Given the description of an element on the screen output the (x, y) to click on. 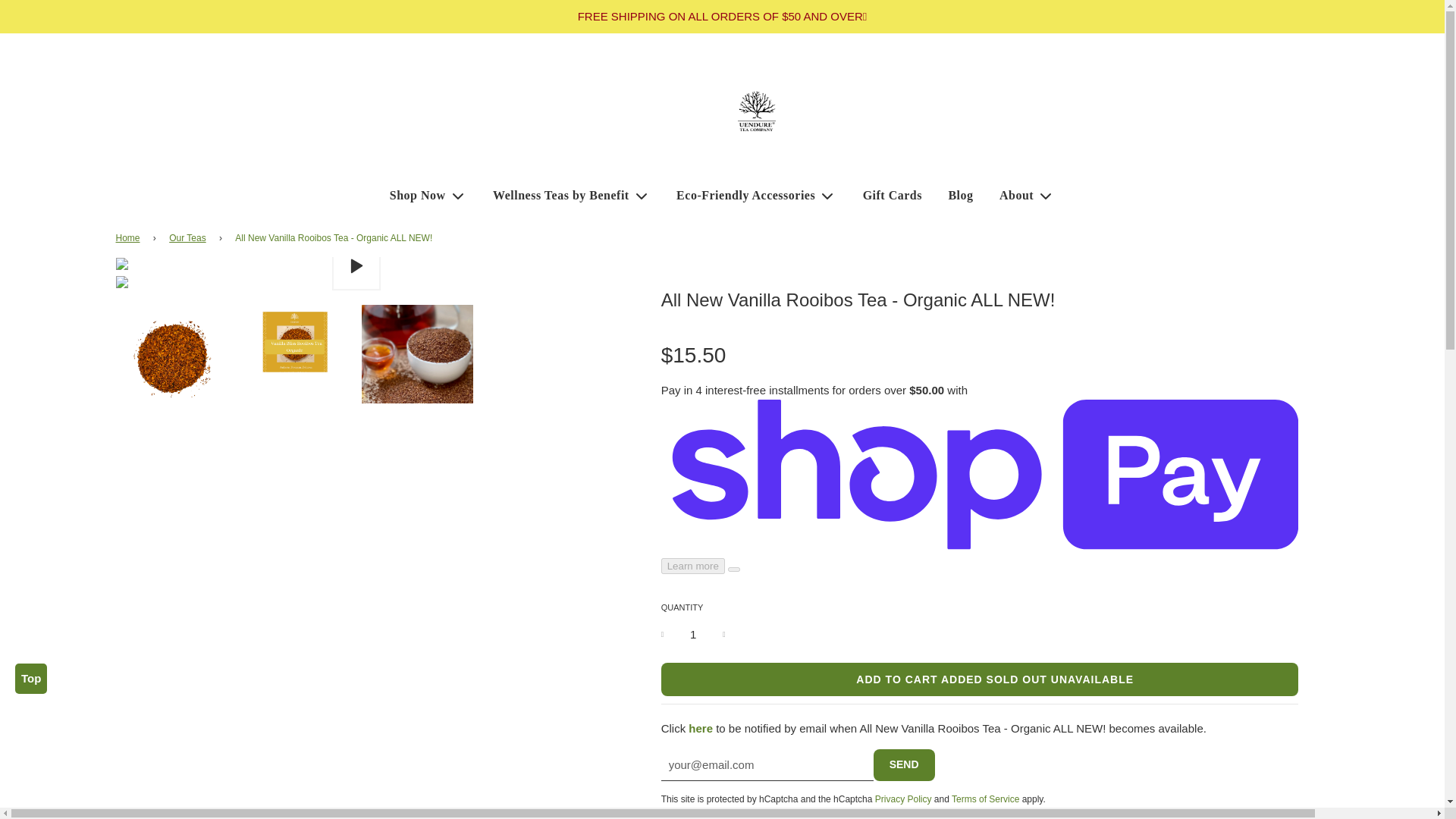
Back to the frontpage (129, 237)
Send (903, 765)
1 (693, 634)
